Given the description of an element on the screen output the (x, y) to click on. 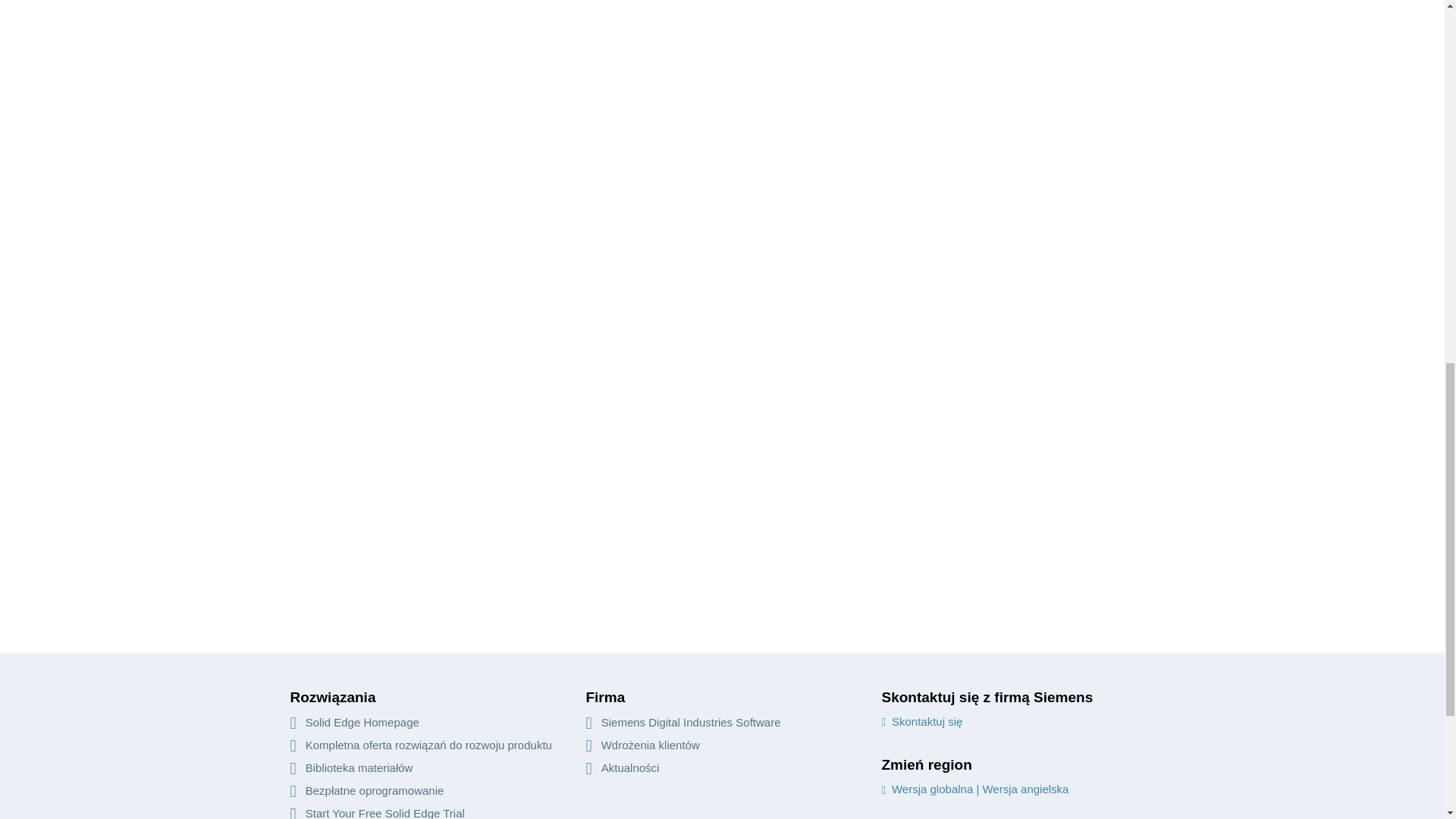
Siemens Digital Industries Software (682, 721)
Solid Edge Homepage (354, 721)
Start Your Free Solid Edge Trial (376, 812)
